Given the description of an element on the screen output the (x, y) to click on. 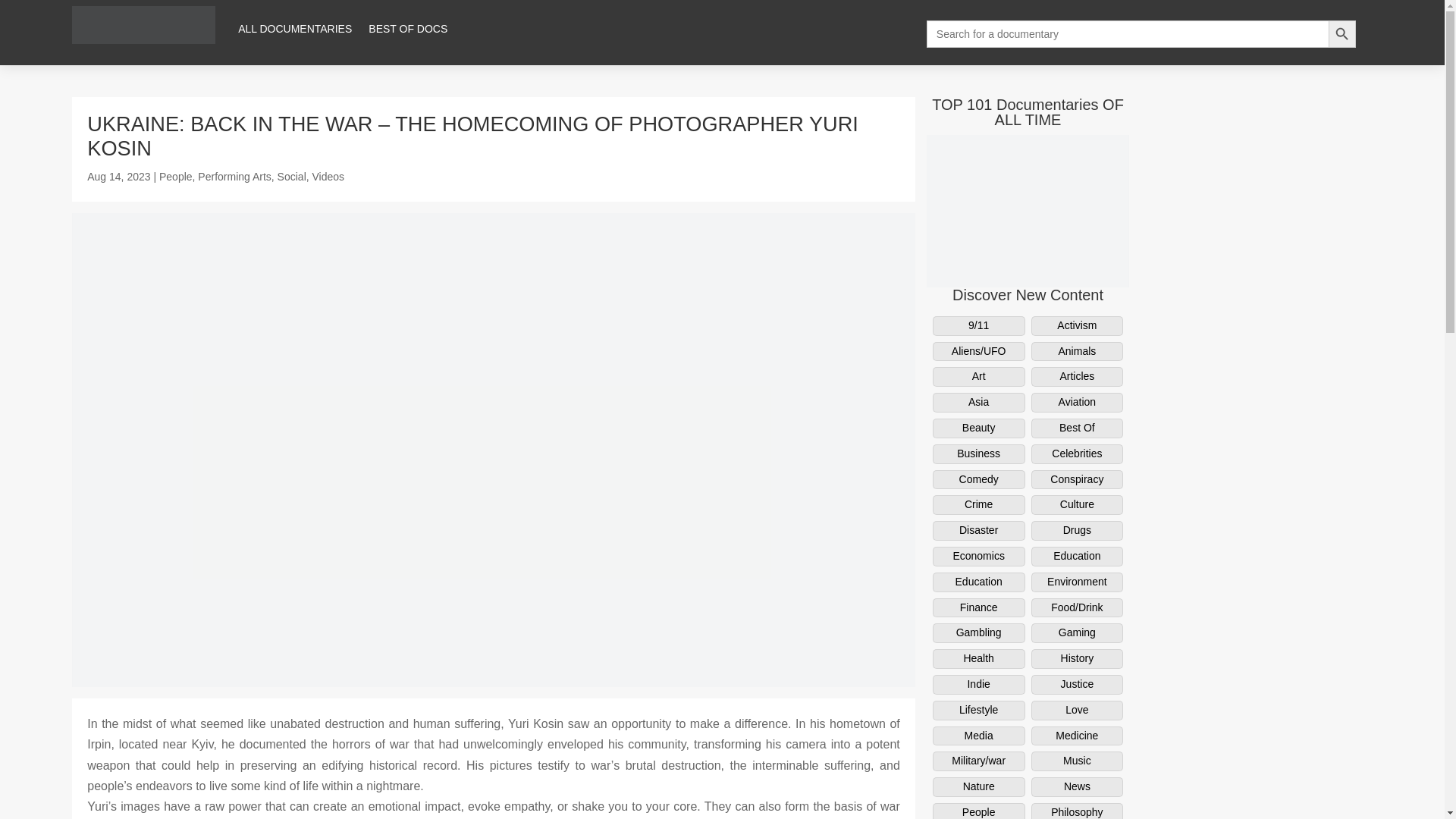
ALL DOCUMENTARIES (295, 28)
Disaster (979, 530)
Activism (1077, 325)
Social (291, 176)
TOP 101 Documentaries OF ALL TIME (1027, 111)
Drugs (1077, 530)
Crime (979, 505)
Business (979, 454)
Conspiracy (1077, 479)
Best Of (1077, 428)
